Given the description of an element on the screen output the (x, y) to click on. 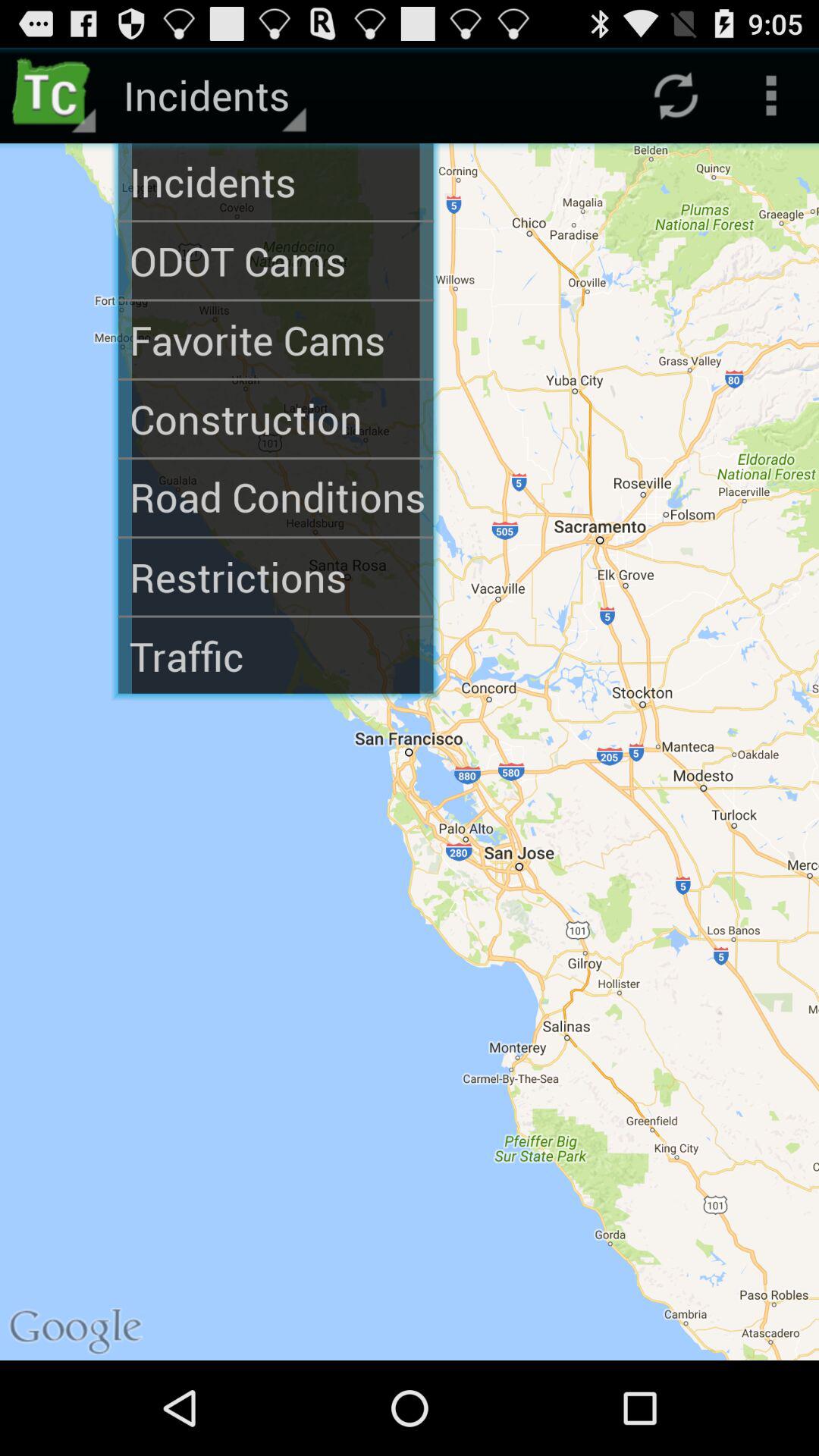
swipe to traffic (275, 655)
